Given the description of an element on the screen output the (x, y) to click on. 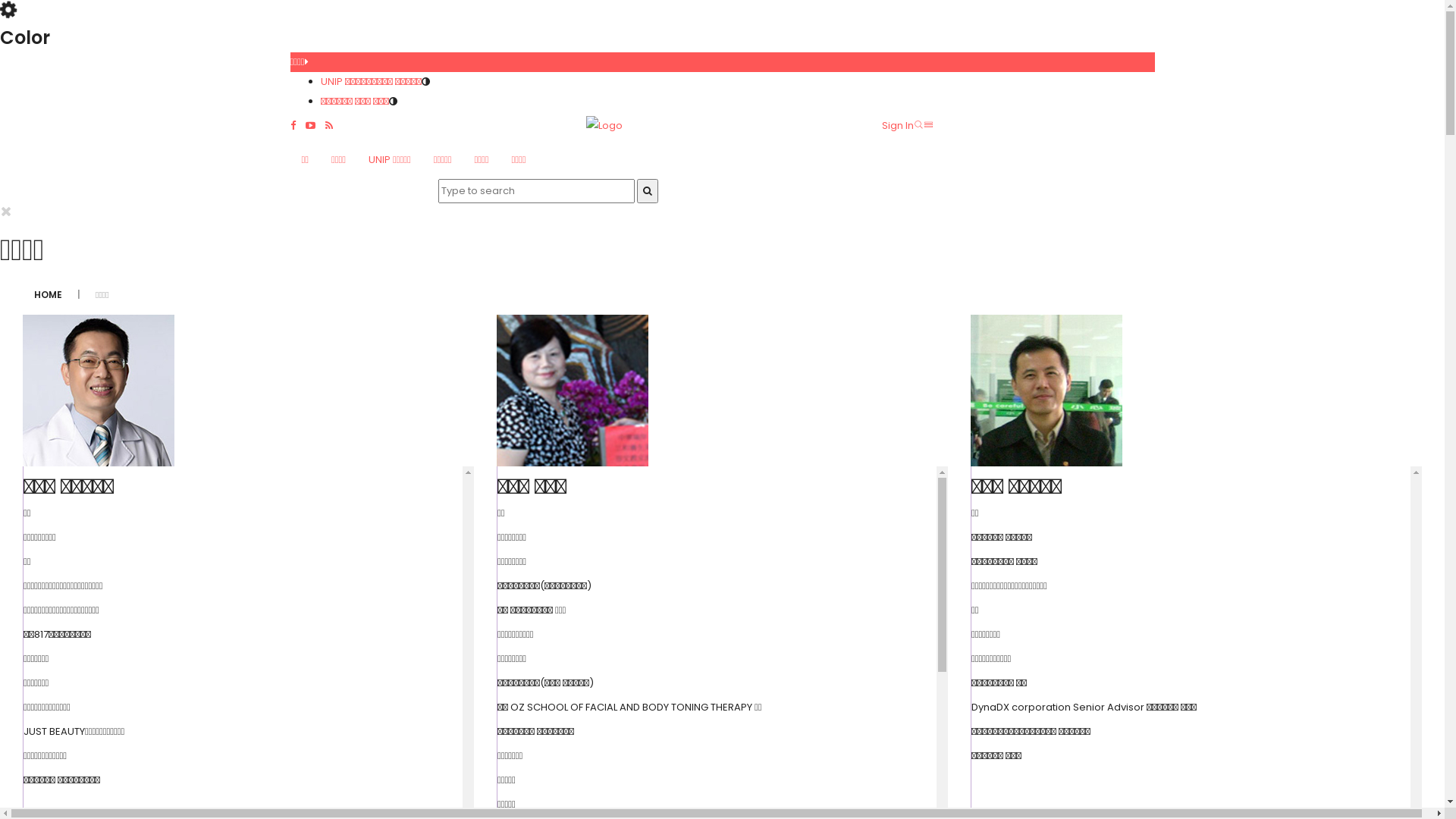
Sign In Element type: text (897, 125)
HOME Element type: text (48, 287)
